Given the description of an element on the screen output the (x, y) to click on. 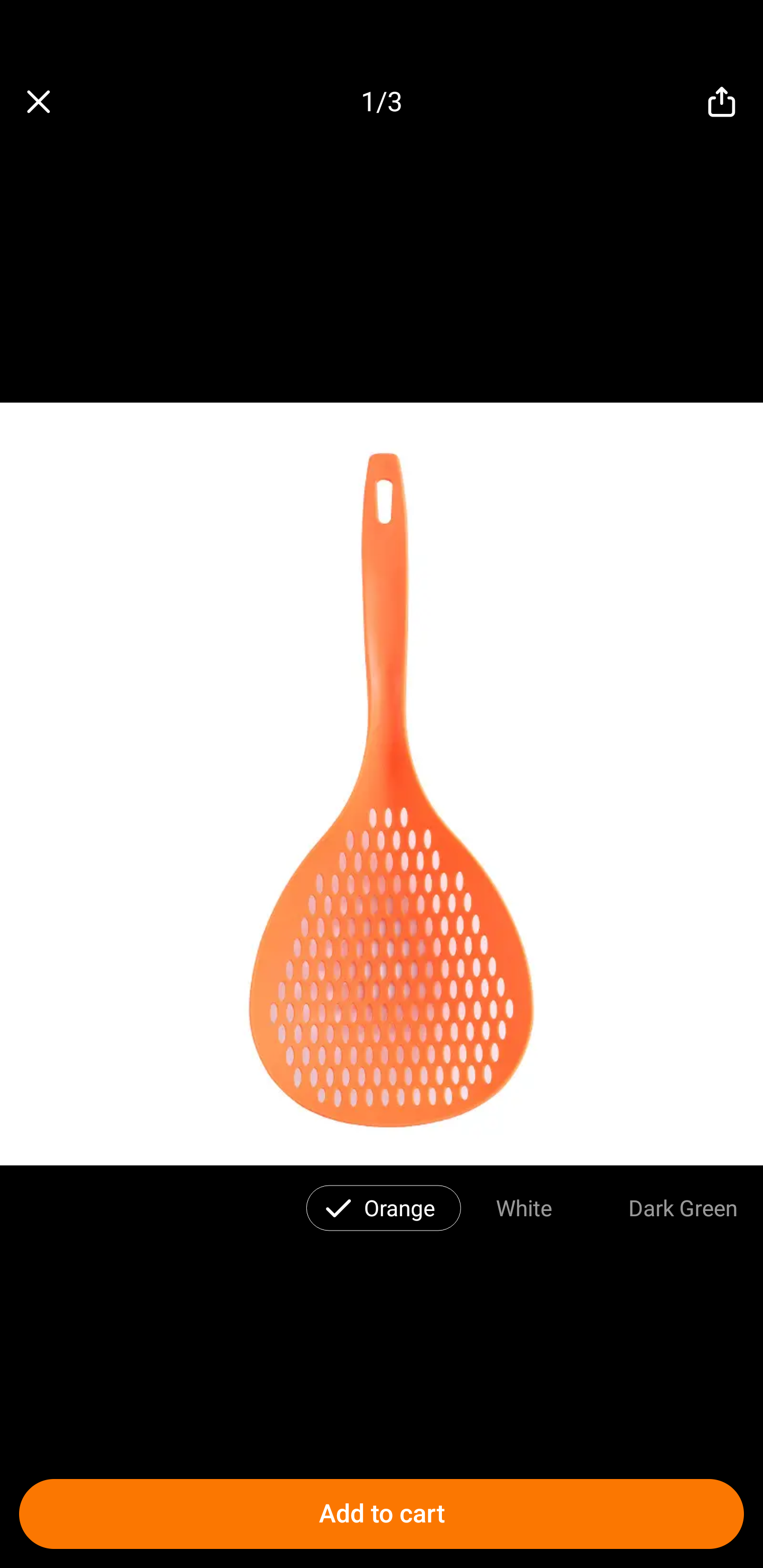
share (721, 101)
Orange White Dark Green (381, 1204)
Orange (399, 1207)
White (523, 1207)
Dark Green (682, 1207)
Add to cart (381, 1513)
